Given the description of an element on the screen output the (x, y) to click on. 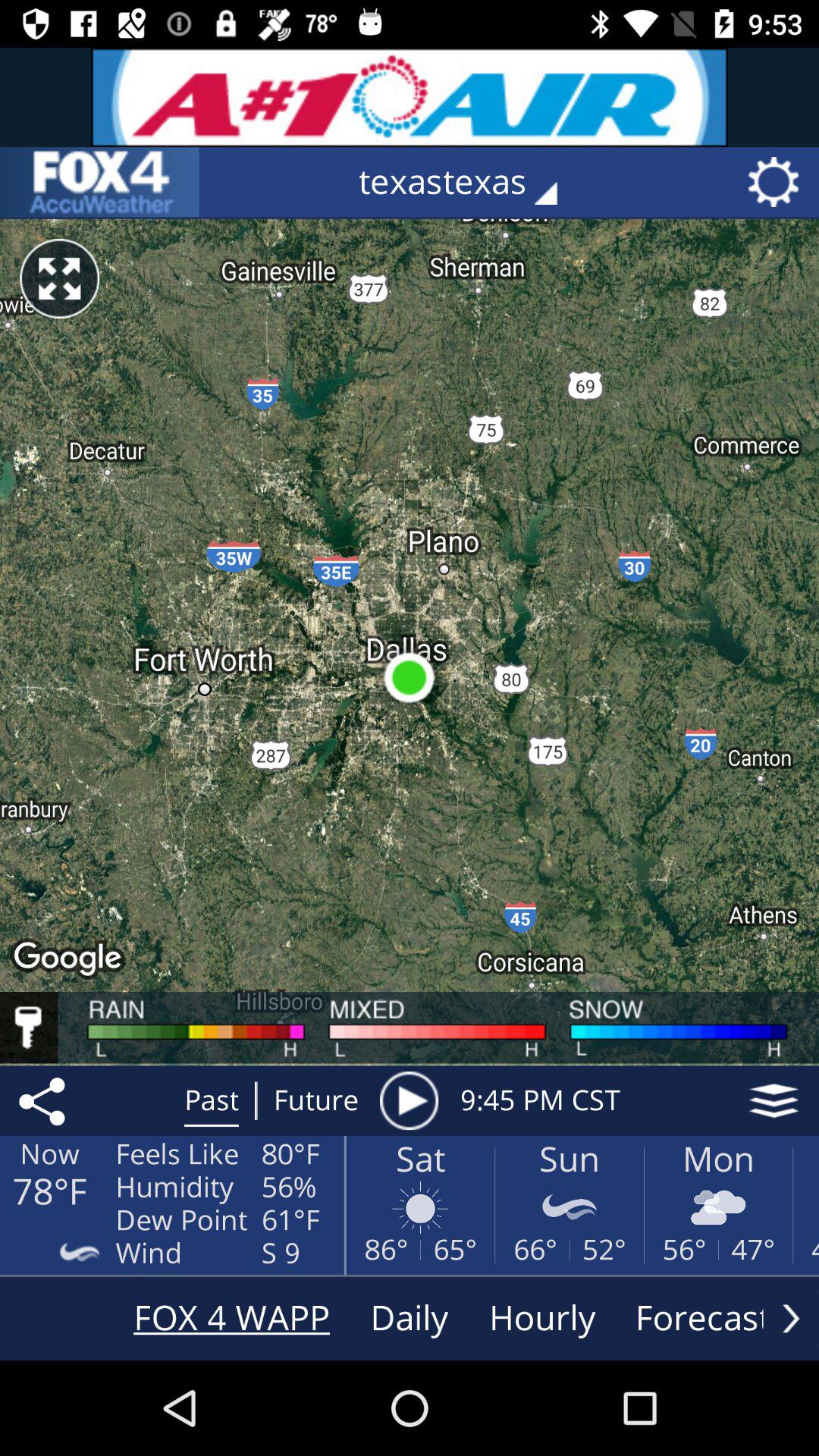
play (409, 1100)
